Given the description of an element on the screen output the (x, y) to click on. 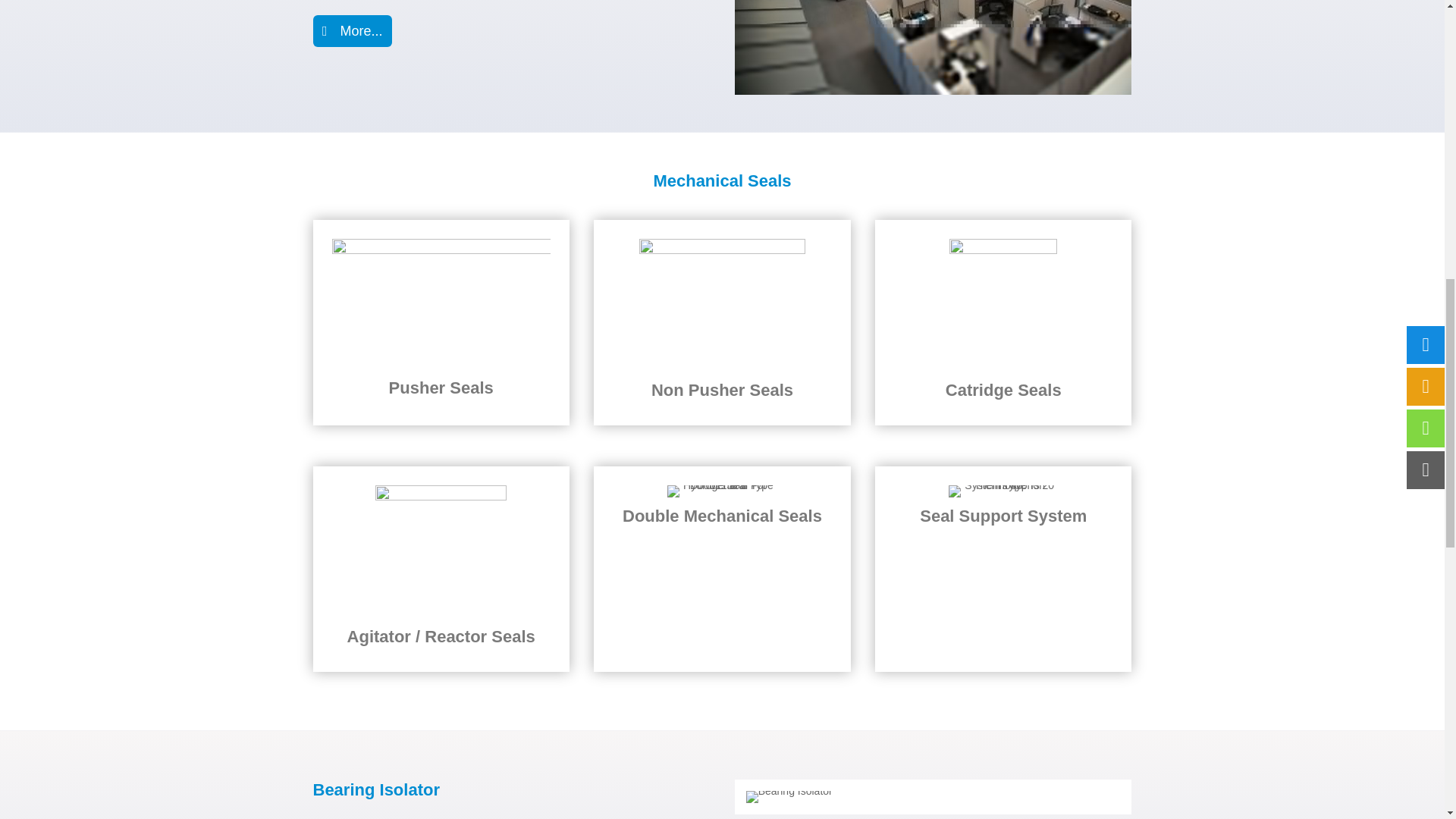
Conical-Spring-Seal-31 (722, 305)
Thermosyphon-System-Type-TS-20-TS-40 (1003, 491)
Double-Seal-For-Hydrogenator-Type-511-D-B (721, 491)
Bearing Isolator (788, 797)
office (933, 47)
Conical-Spring-Seal-31 (440, 304)
Dry-Running-Seal-Type-SPD103-SPD103-B (440, 551)
